Given the description of an element on the screen output the (x, y) to click on. 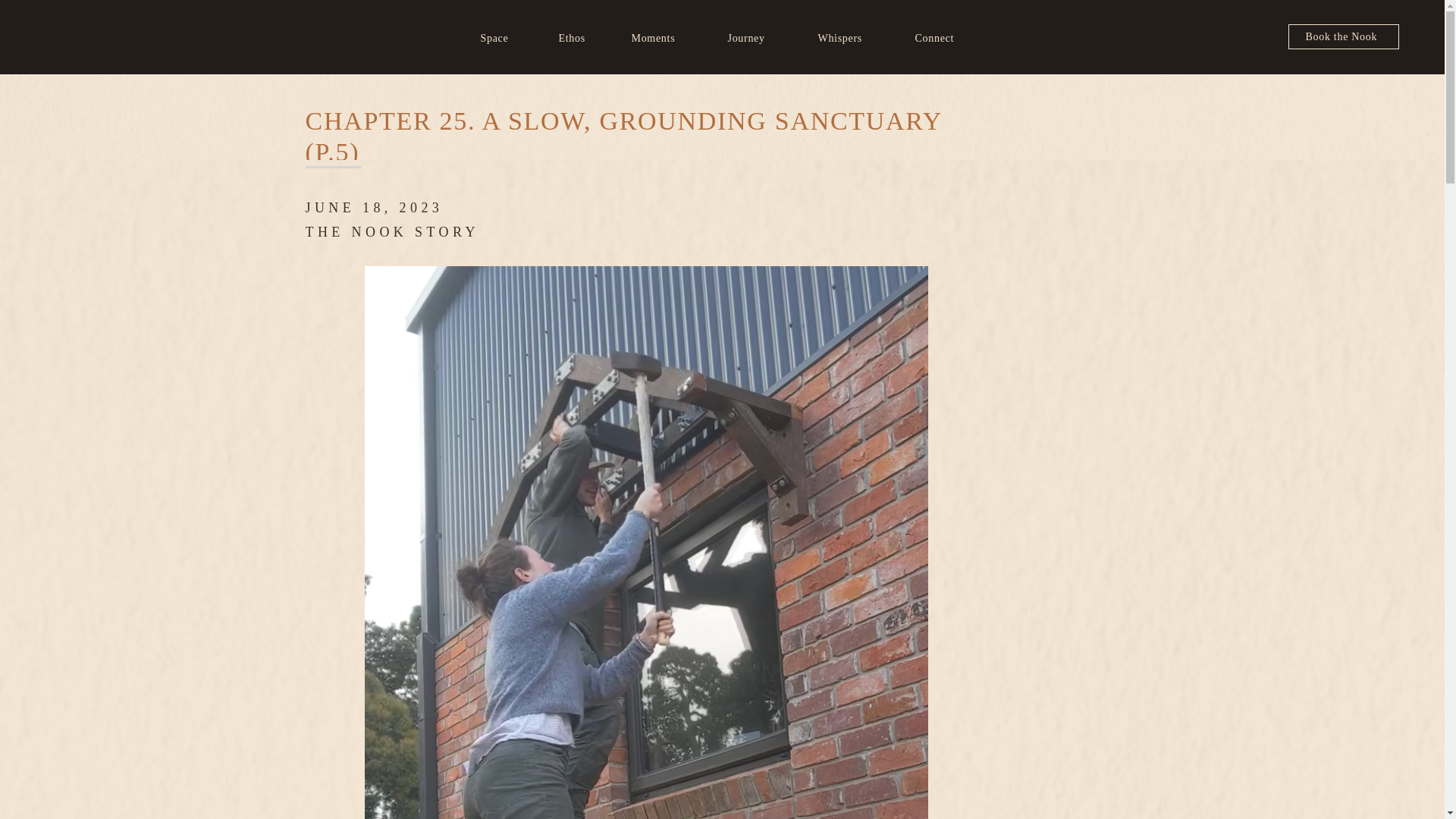
Journey (752, 38)
Ethos (576, 38)
Connect (938, 38)
Whispers (844, 38)
Moments (655, 38)
Book the Nook (1346, 36)
Space (499, 38)
THE NOOK STORY (391, 231)
